Given the description of an element on the screen output the (x, y) to click on. 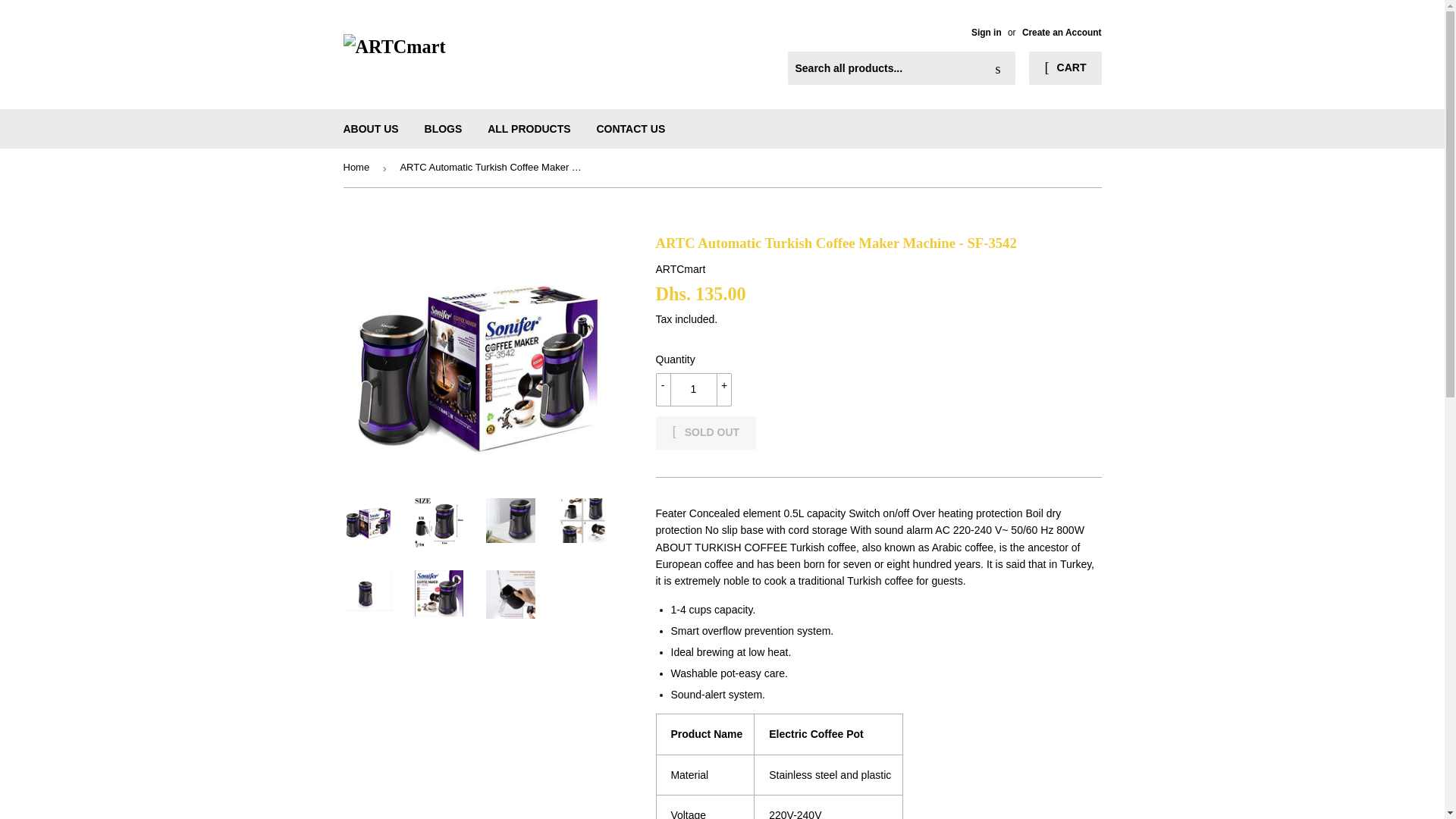
SOLD OUT (705, 432)
ALL PRODUCTS (528, 128)
Sign in (986, 32)
1 (692, 389)
CART (1064, 68)
BLOGS (443, 128)
Create an Account (1062, 32)
CONTACT US (631, 128)
Search (997, 69)
ABOUT US (370, 128)
